Given the description of an element on the screen output the (x, y) to click on. 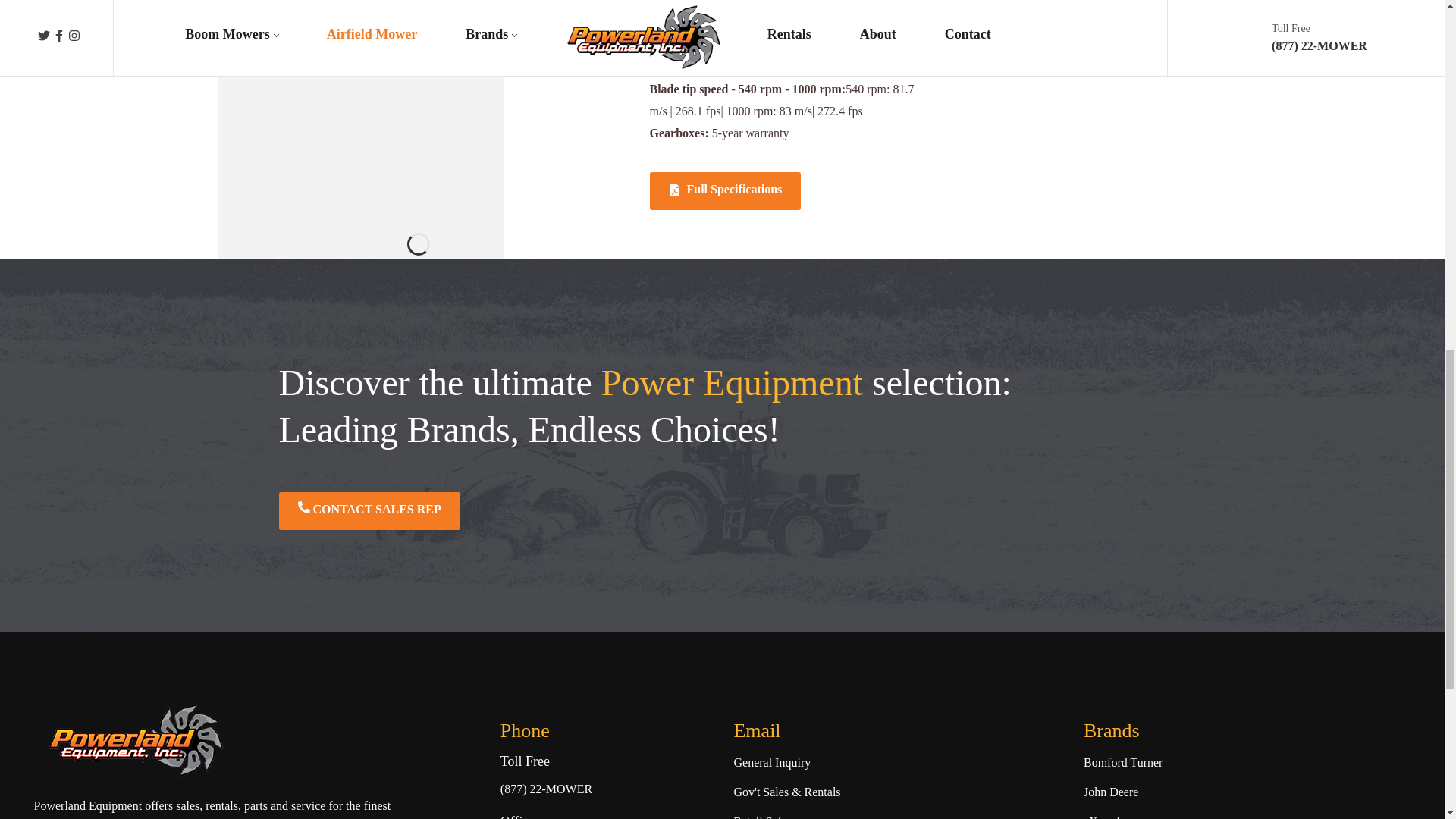
Bomford Turner (1122, 762)
General Inquiry (771, 762)
eXmark (1102, 815)
Retail Sales (761, 815)
John Deere (1110, 792)
CONTACT SALES REP (369, 510)
  Full Specifications (724, 190)
